Given the description of an element on the screen output the (x, y) to click on. 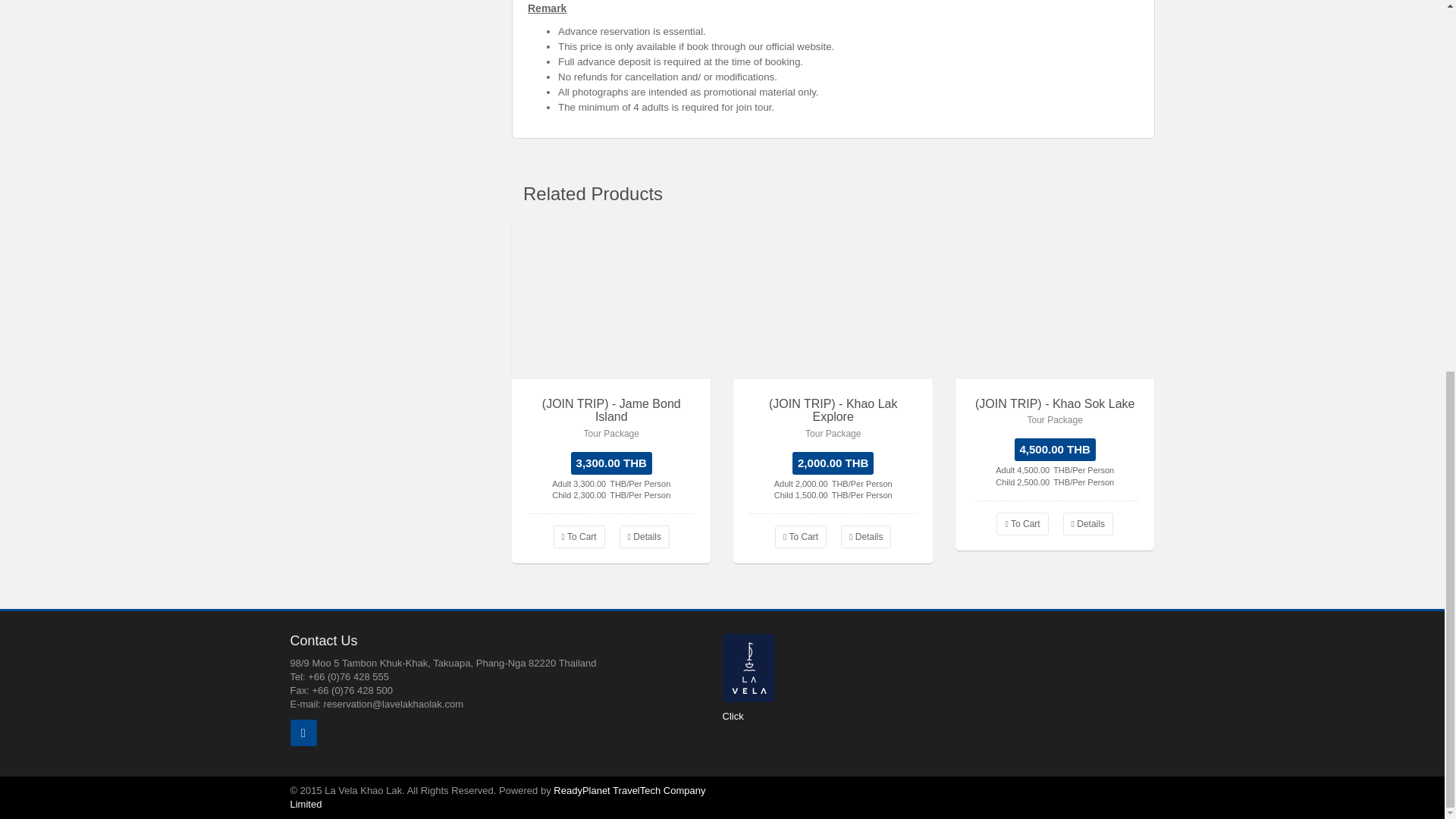
Facebook (302, 732)
Details (644, 536)
To Cart (1021, 523)
Details (1087, 523)
To Cart (579, 536)
To Cart (800, 536)
Details (866, 536)
ReadyPlanet TravelTech Company Limited (496, 796)
Click (732, 715)
